Given the description of an element on the screen output the (x, y) to click on. 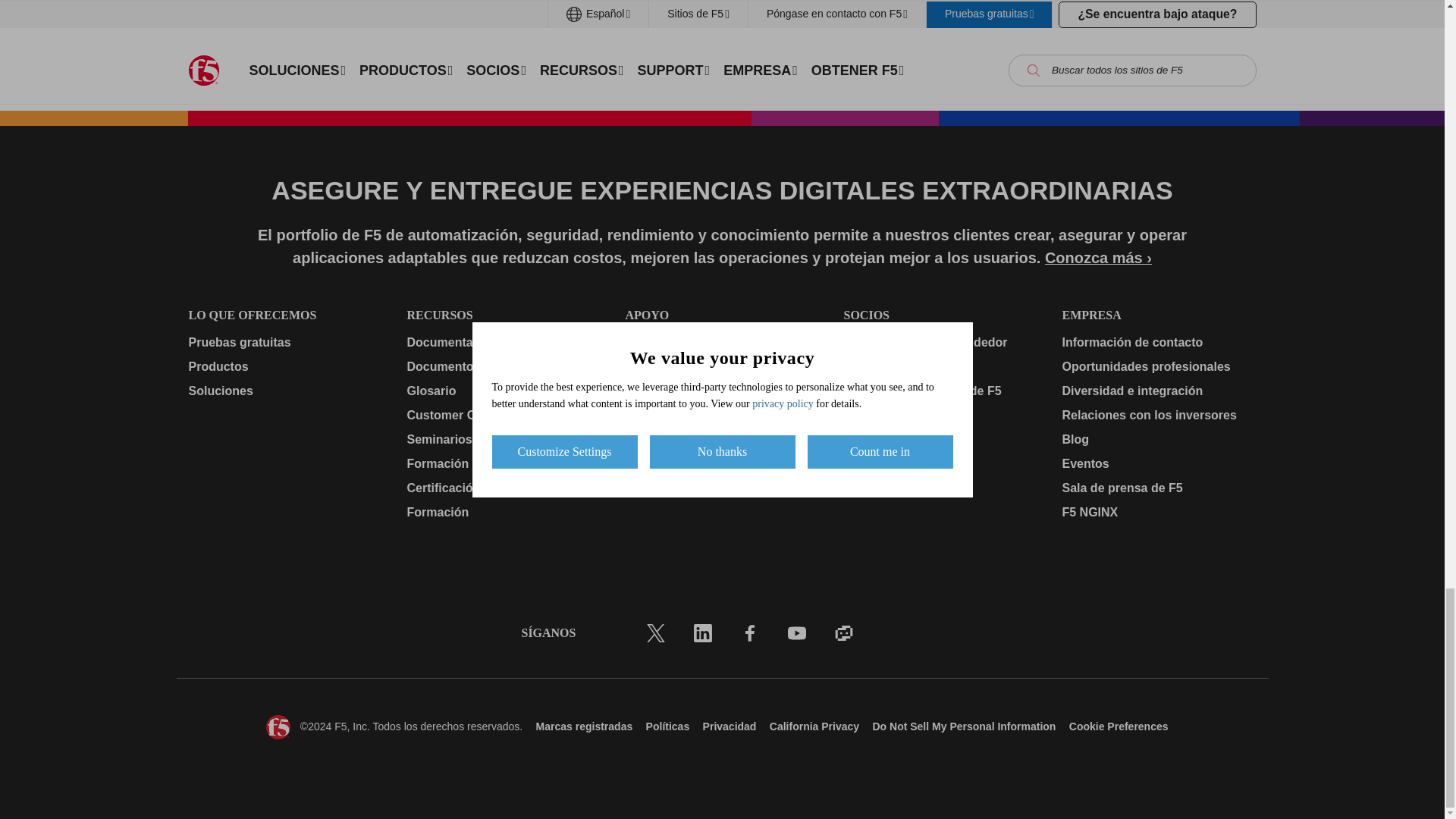
Soluciones (284, 391)
Customer Case Studies (502, 415)
Seminarios web (502, 439)
Productos (284, 366)
Pruebas gratuitas (284, 342)
Glosario (502, 391)
